Given the description of an element on the screen output the (x, y) to click on. 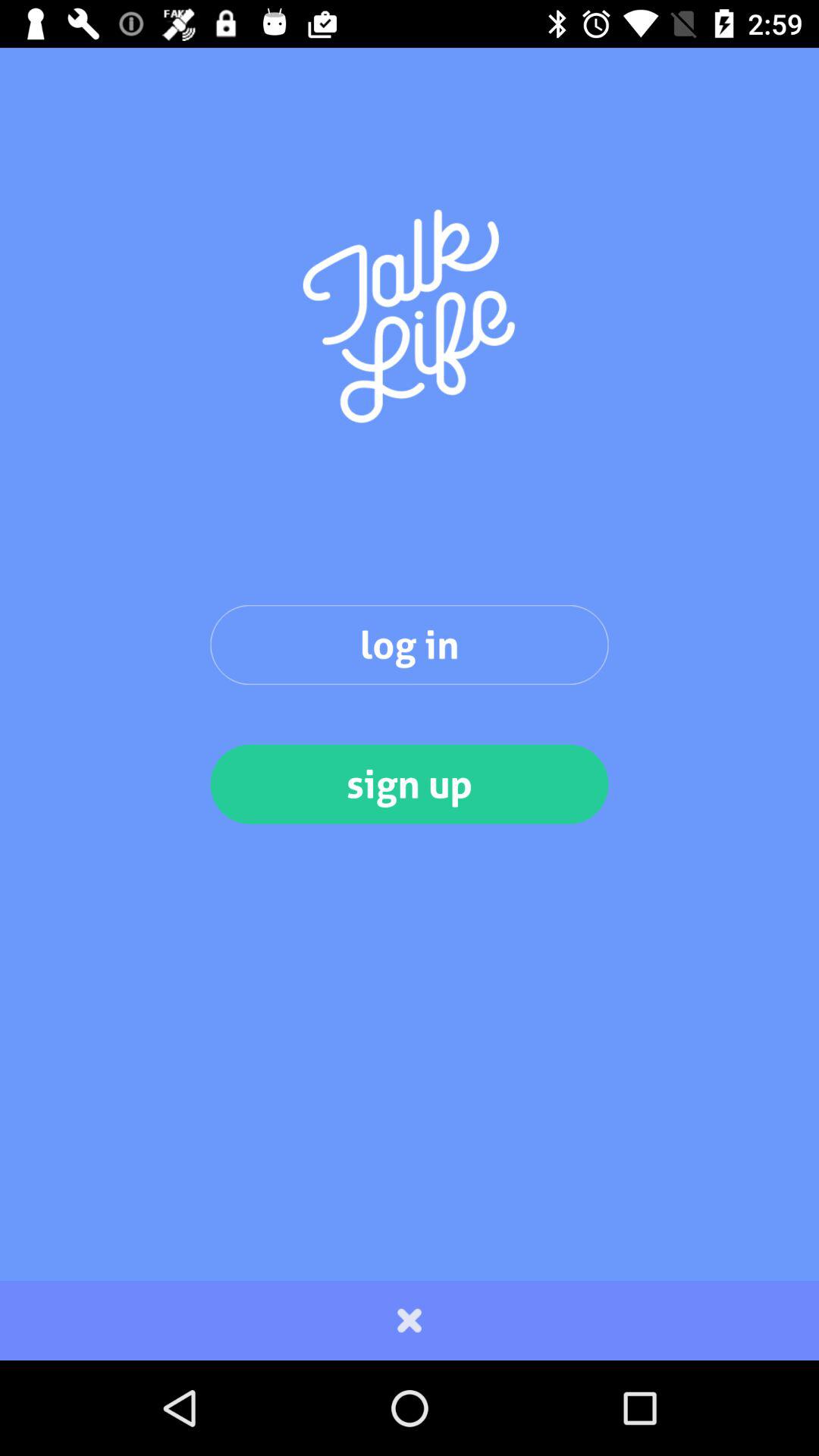
turn on item above sign up item (409, 644)
